Given the description of an element on the screen output the (x, y) to click on. 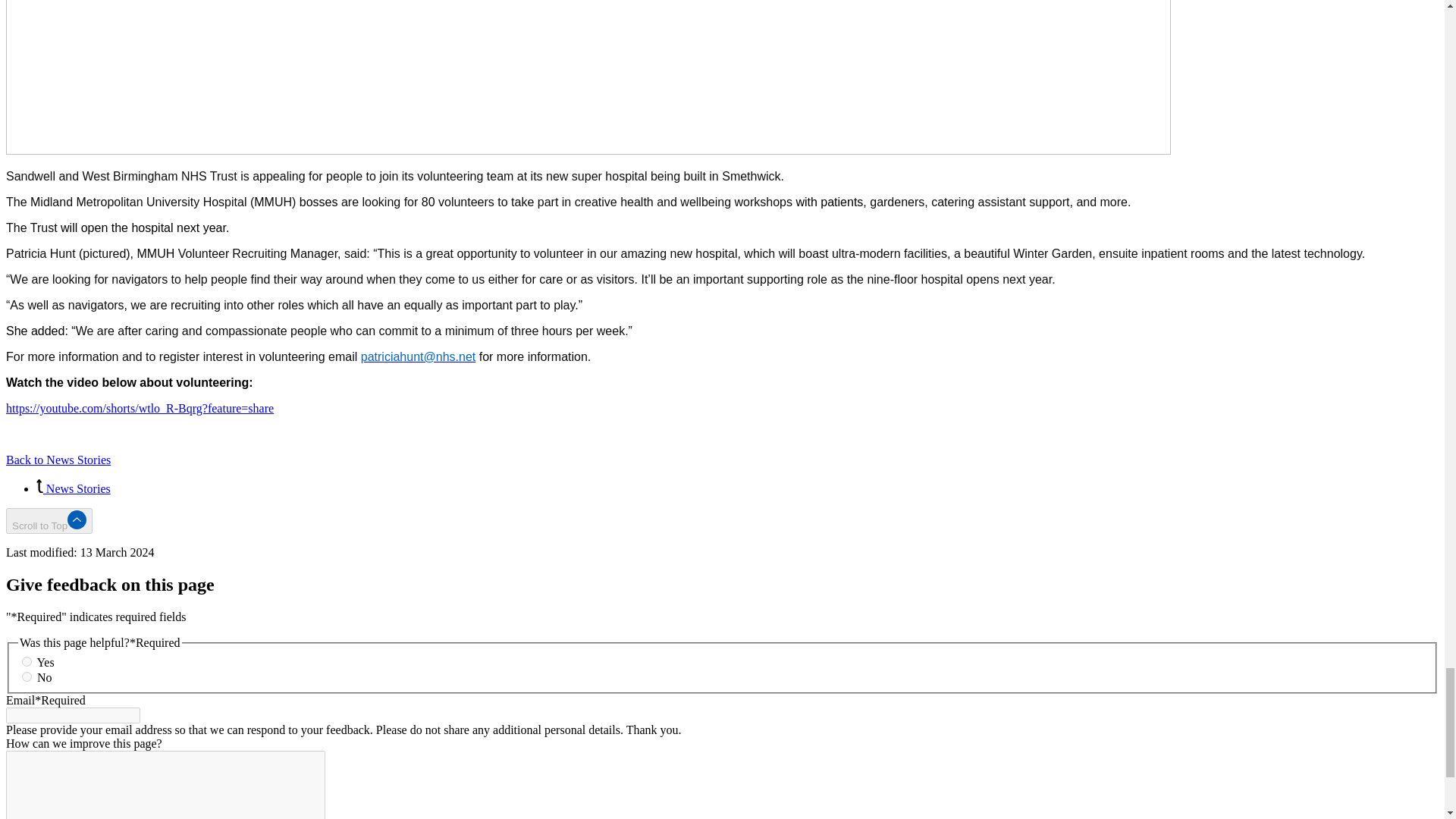
Scroll to Top (49, 520)
No (26, 676)
Yes (26, 661)
